Given the description of an element on the screen output the (x, y) to click on. 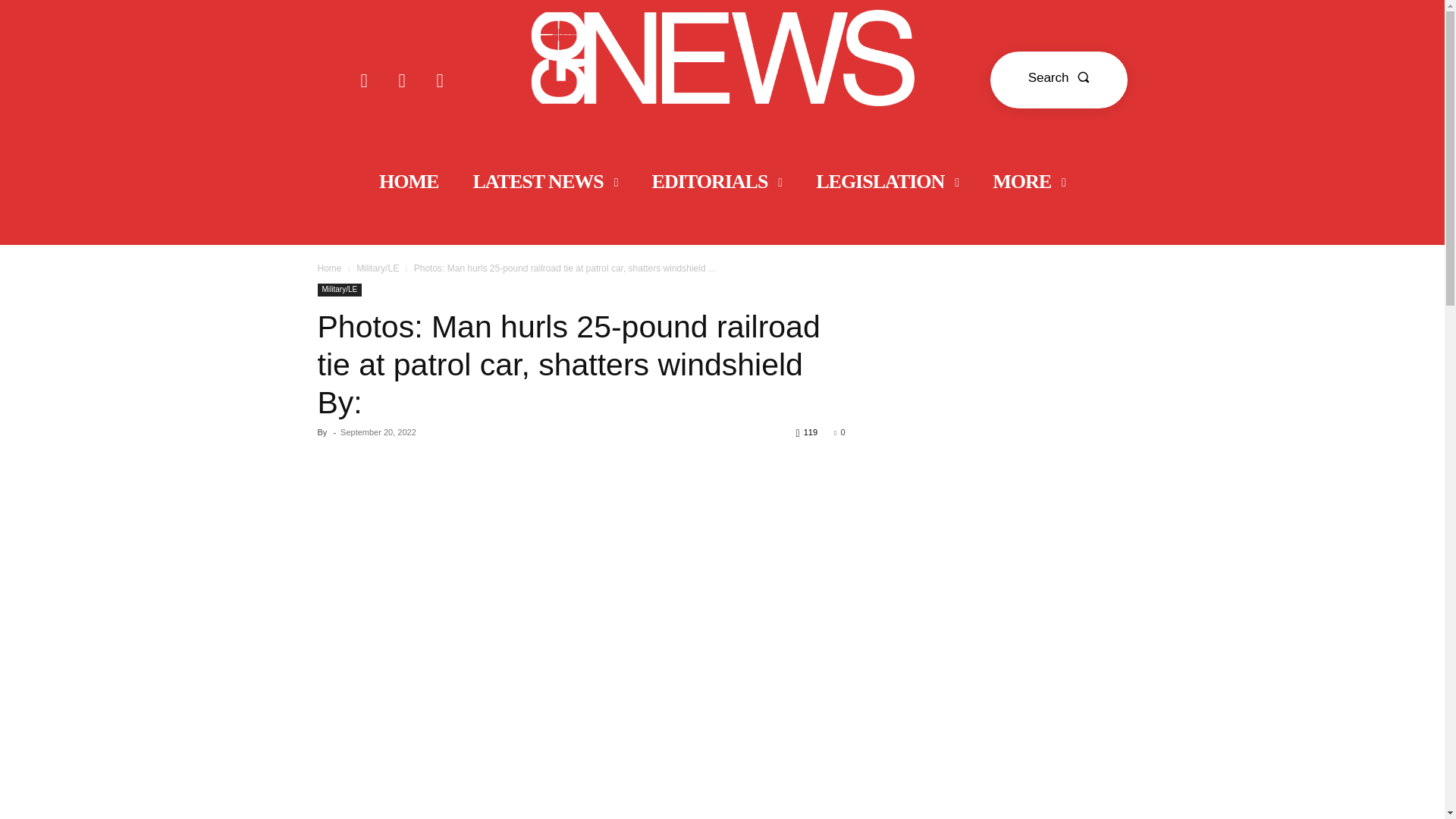
Search (1058, 79)
HOME (408, 181)
Search (1058, 79)
Facebook (363, 80)
Twitter (439, 80)
EDITORIALS (717, 181)
LATEST NEWS (544, 181)
Instagram (401, 80)
